Given the description of an element on the screen output the (x, y) to click on. 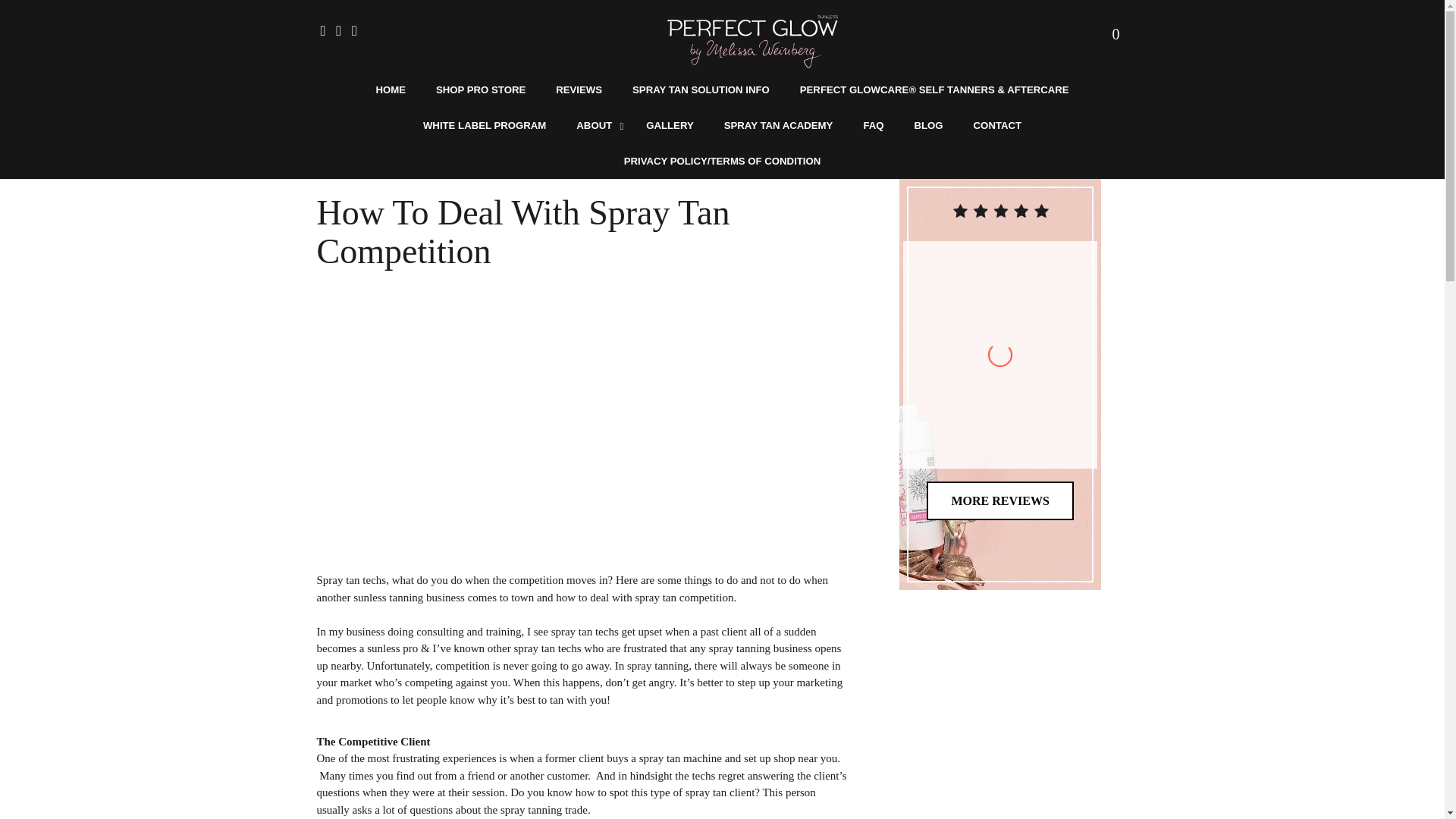
FAQ (872, 125)
WHITE LABEL PROGRAM (483, 125)
CONTACT (997, 125)
ABOUT (595, 125)
GALLERY (669, 125)
BLOG (928, 125)
SPRAY TAN SOLUTION INFO (700, 89)
SPRAY TAN ACADEMY (778, 125)
MORE REVIEWS (999, 500)
HOME (389, 89)
